Given the description of an element on the screen output the (x, y) to click on. 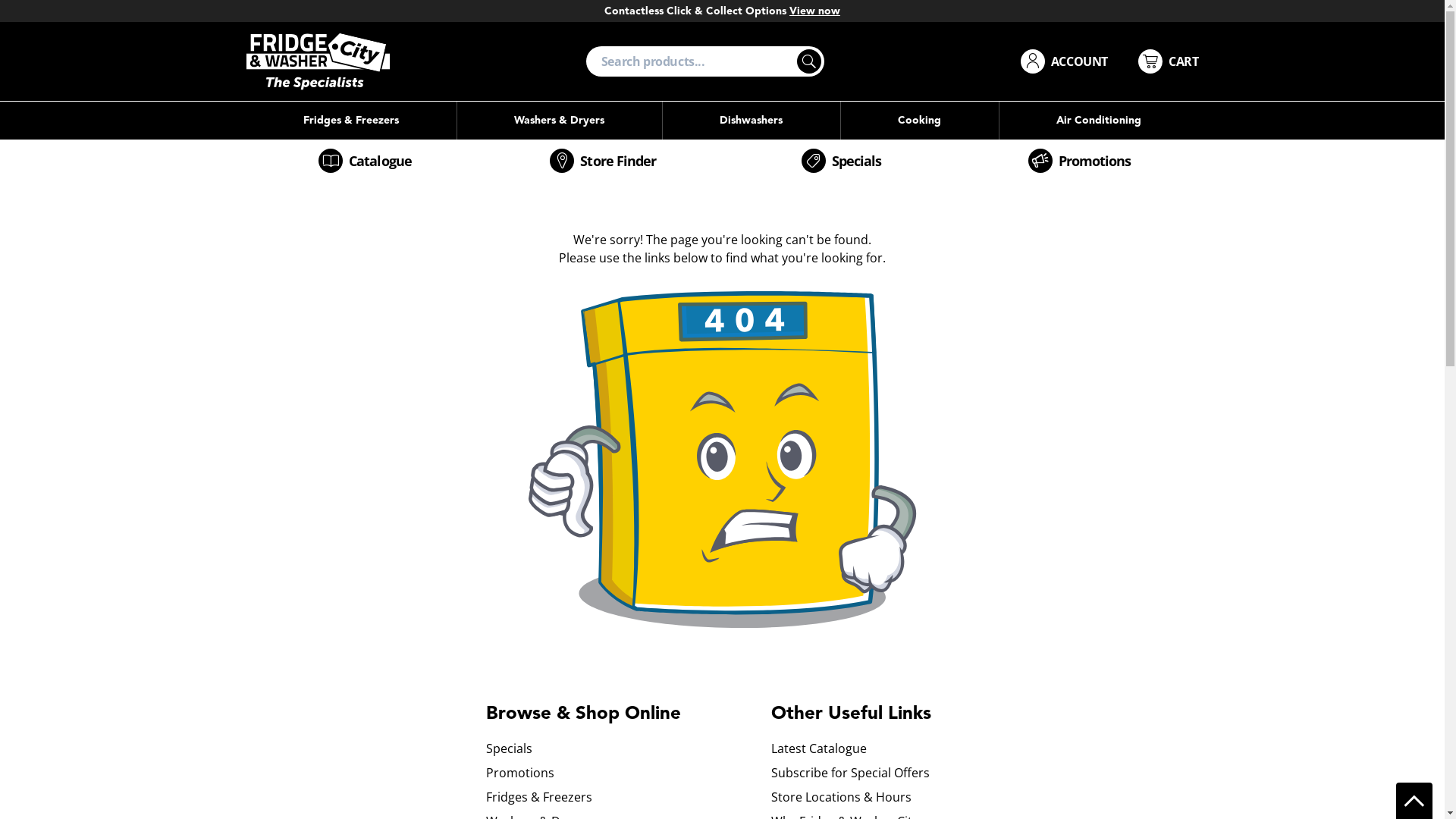
Specials Element type: text (840, 160)
ACCOUNT Element type: text (1063, 61)
Washers & Dryers Element type: text (558, 120)
here Element type: text (392, 10)
Promotions Element type: text (627, 772)
Fridges & Freezers Element type: text (350, 120)
Promotions Element type: text (1079, 160)
Air Conditioning Element type: text (1098, 120)
Subscribe for Special Offers Element type: text (912, 772)
Fridges & Freezers Element type: text (627, 796)
Cooking Element type: text (918, 120)
Latest Catalogue Element type: text (912, 748)
Store Locations & Hours Element type: text (912, 796)
Store Finder Element type: text (602, 160)
Dishwashers Element type: text (751, 120)
Specials Element type: text (627, 748)
Catalogue Element type: text (364, 160)
